Given the description of an element on the screen output the (x, y) to click on. 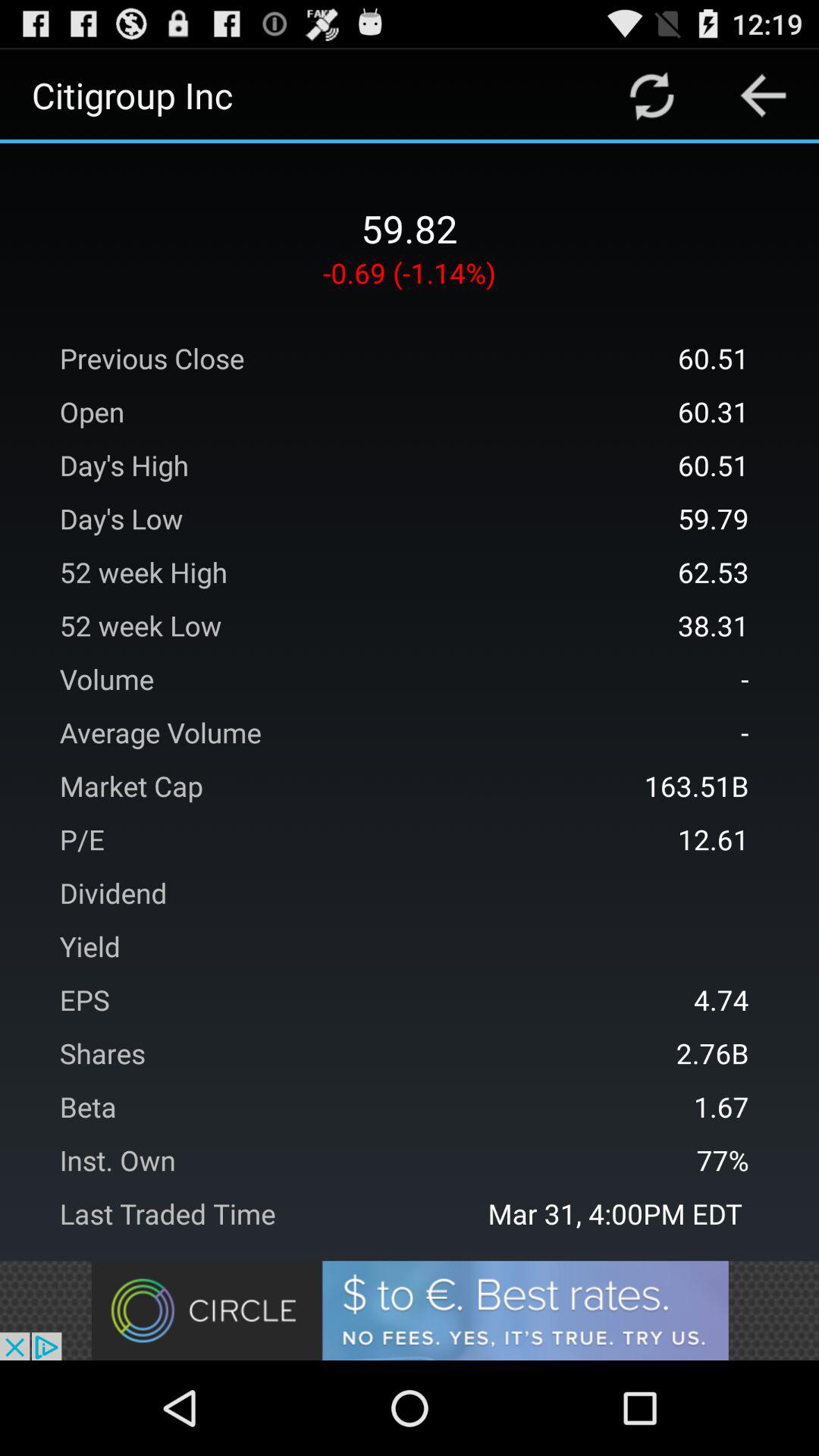
advertisement (409, 1310)
